Given the description of an element on the screen output the (x, y) to click on. 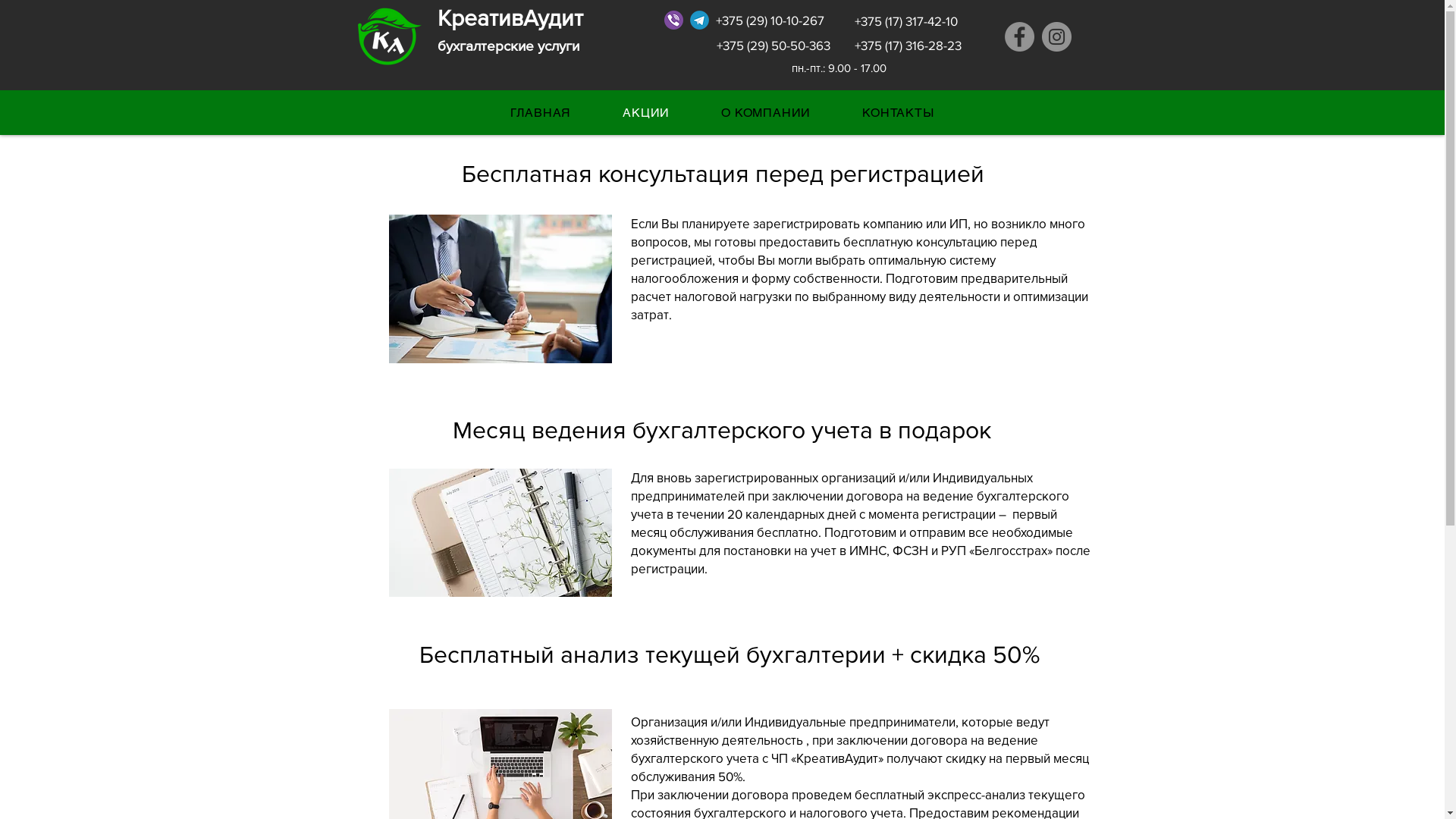
LogoKrat.png Element type: hover (386, 36)
Icon viber.png Element type: hover (673, 19)
Icon telegram.png Element type: hover (699, 19)
Schedule Element type: hover (499, 532)
Business Consultation Element type: hover (499, 288)
